Given the description of an element on the screen output the (x, y) to click on. 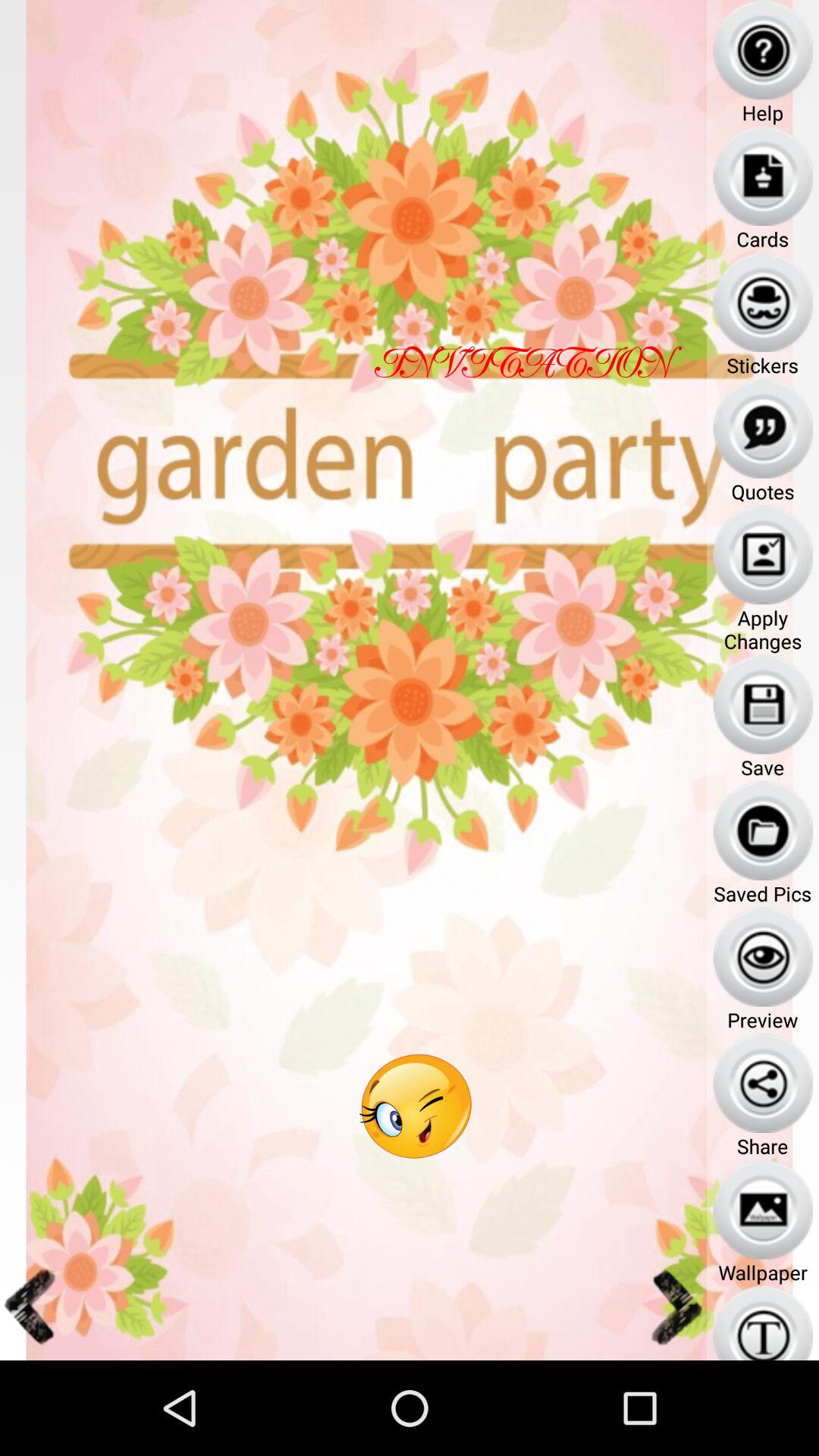
choose the item below the wallpaper app (762, 1322)
